Given the description of an element on the screen output the (x, y) to click on. 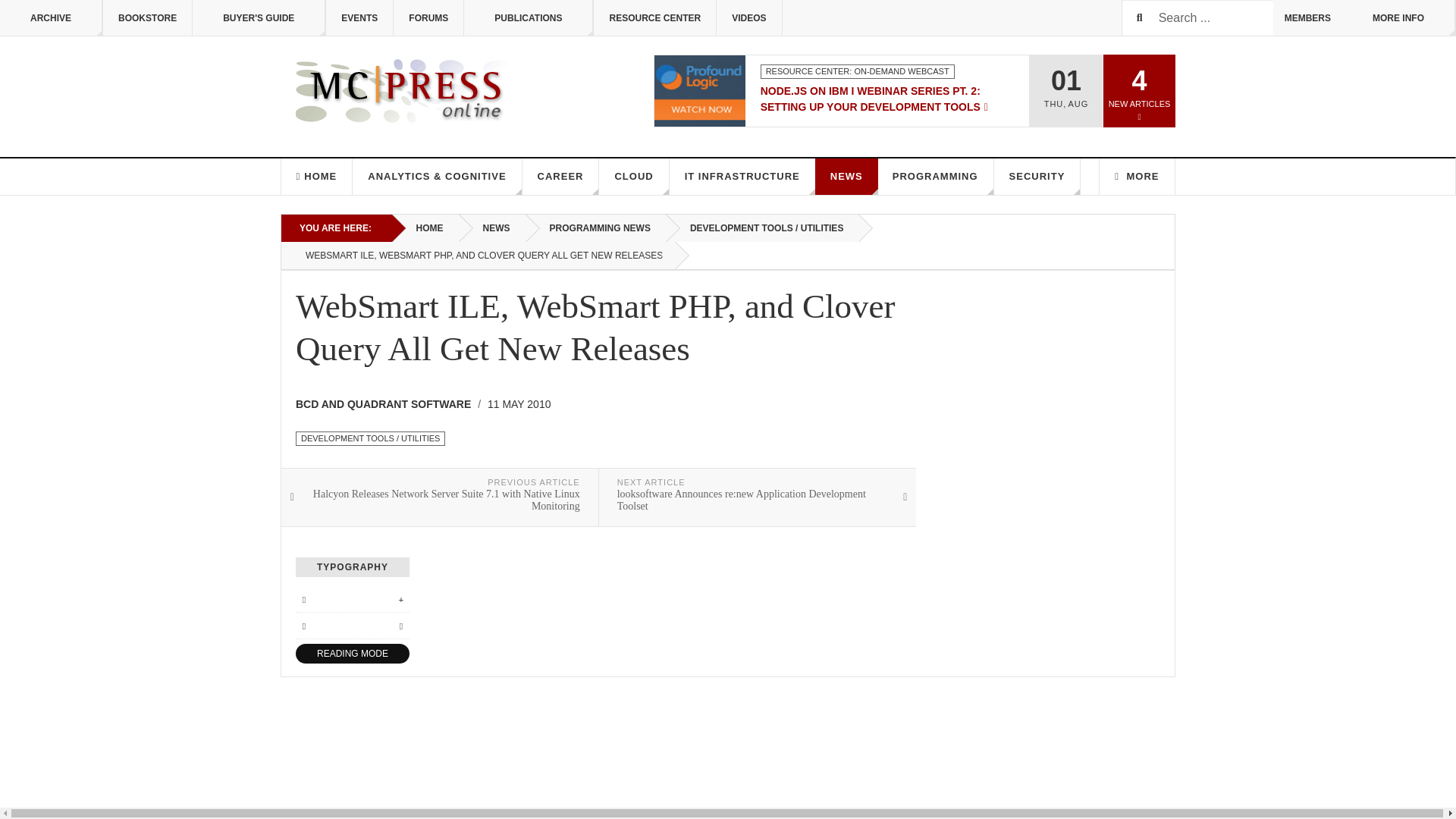
MC Press Online (405, 90)
Search ... (1196, 18)
BOOKSTORE (147, 18)
Category:  (857, 71)
Search ... (1196, 18)
